Given the description of an element on the screen output the (x, y) to click on. 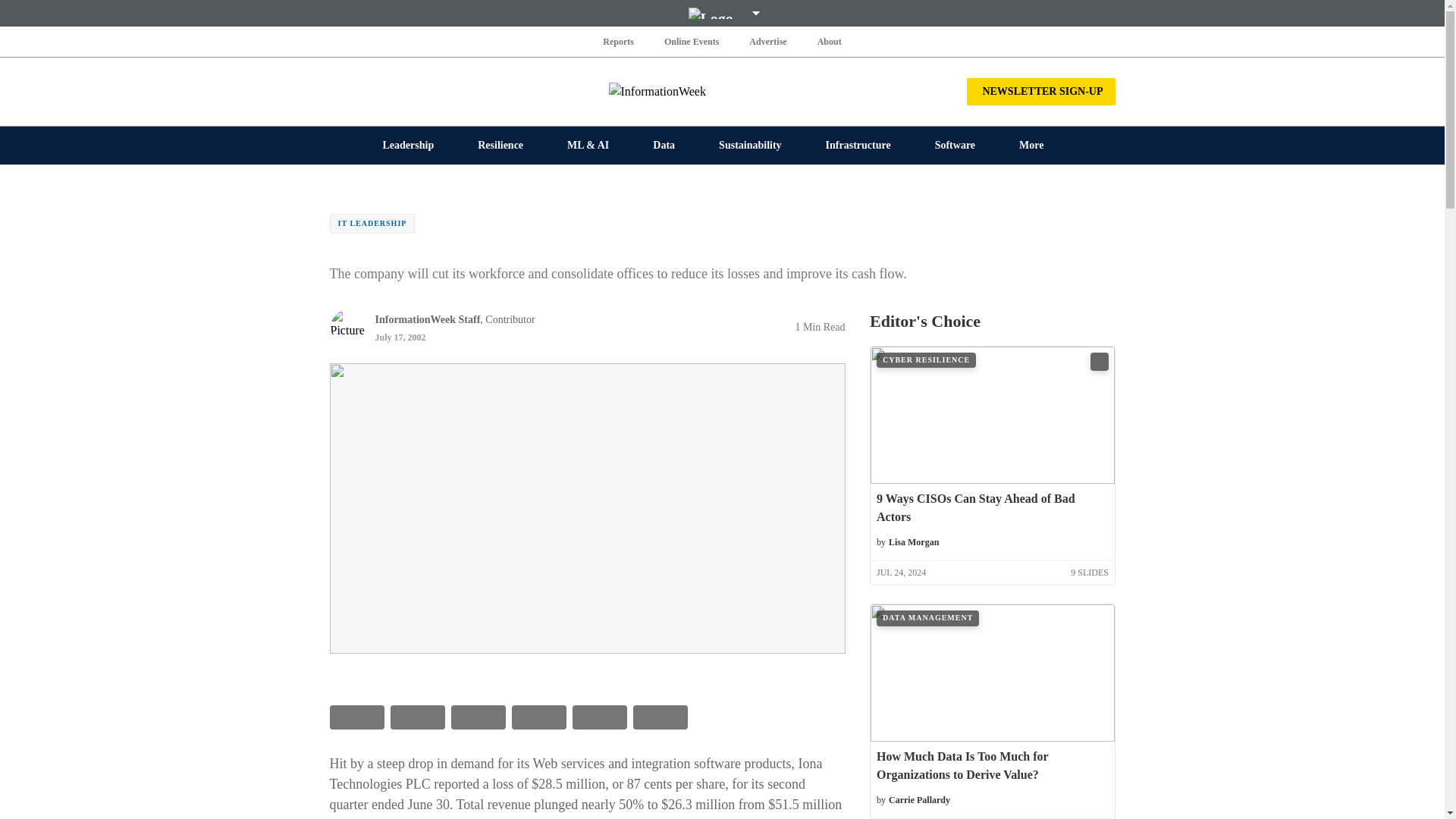
Advertise (767, 41)
InformationWeek (721, 91)
About (828, 41)
NEWSLETTER SIGN-UP (1040, 90)
Reports (618, 41)
Online Events (691, 41)
